Given the description of an element on the screen output the (x, y) to click on. 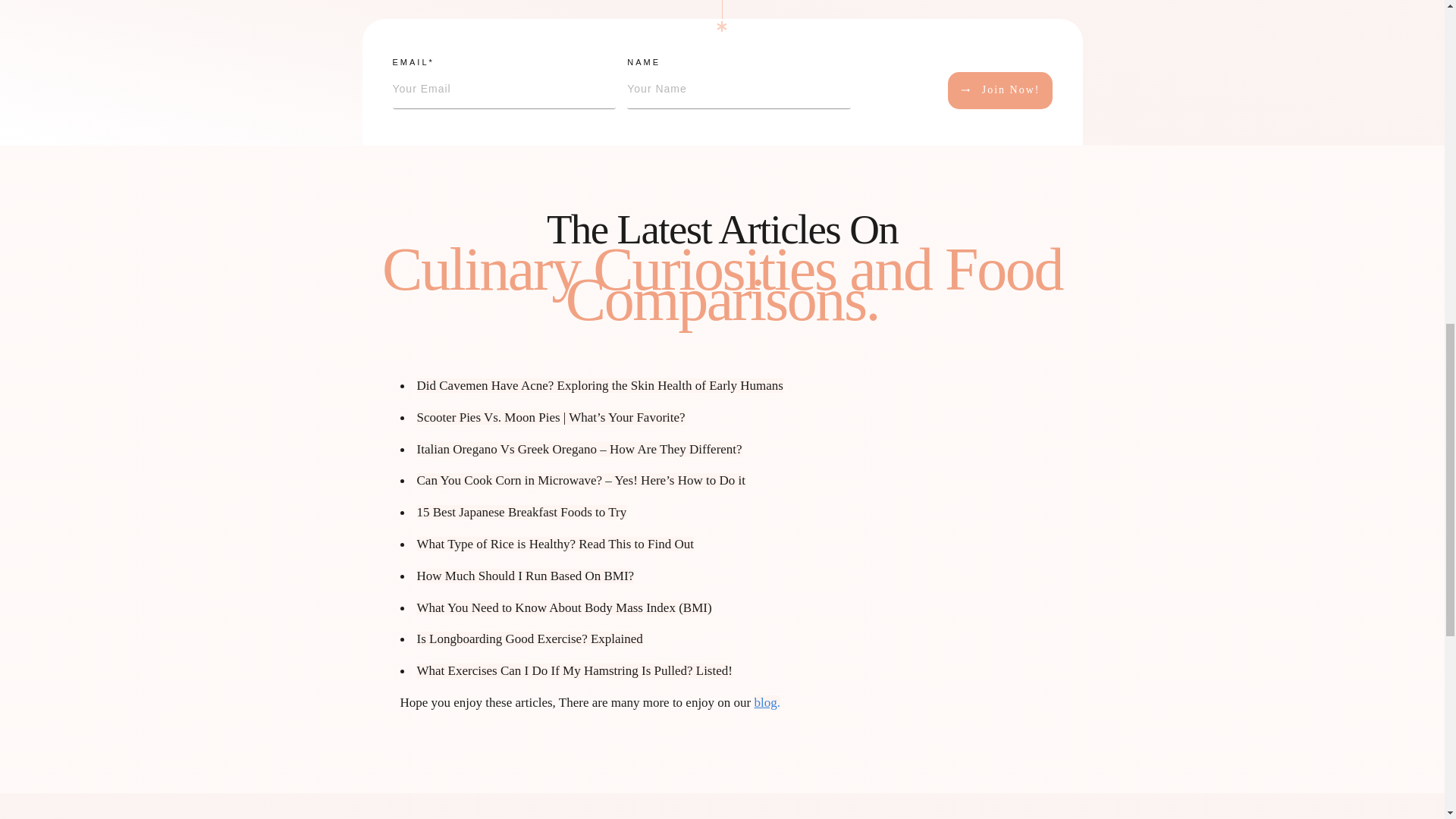
What Type of Rice is Healthy? Read This to Find Out (555, 544)
Join Now! (999, 90)
Is Longboarding Good Exercise? Explained (529, 638)
How Much Should I Run Based On BMI? (525, 575)
blog. (767, 702)
What Exercises Can I Do If My Hamstring Is Pulled? Listed! (574, 670)
15 Best Japanese Breakfast Foods to Try (521, 512)
